Given the description of an element on the screen output the (x, y) to click on. 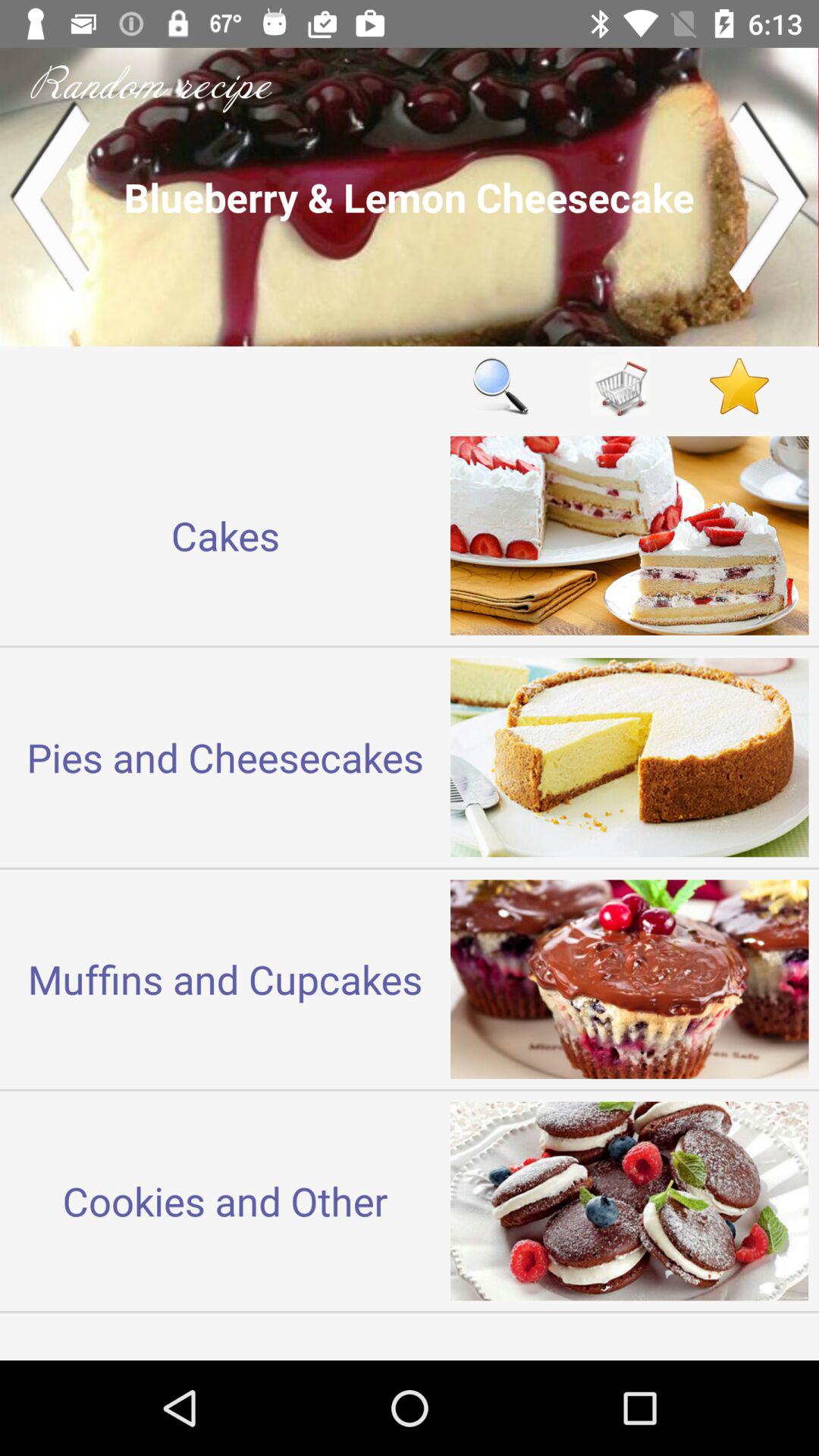
select the pies and cheesecakes icon (225, 756)
